Given the description of an element on the screen output the (x, y) to click on. 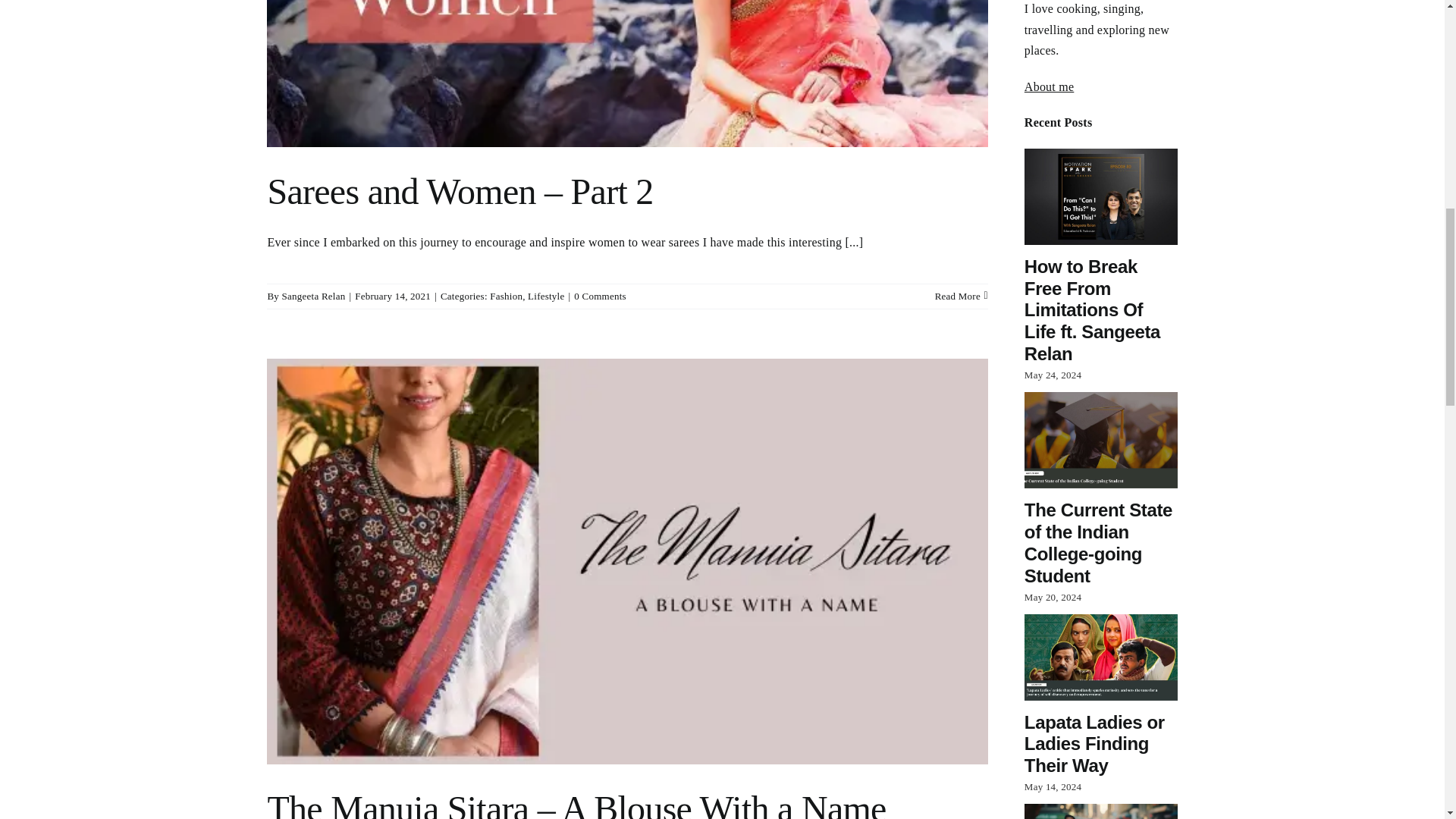
Posts by Sangeeta Relan (314, 296)
